Given the description of an element on the screen output the (x, y) to click on. 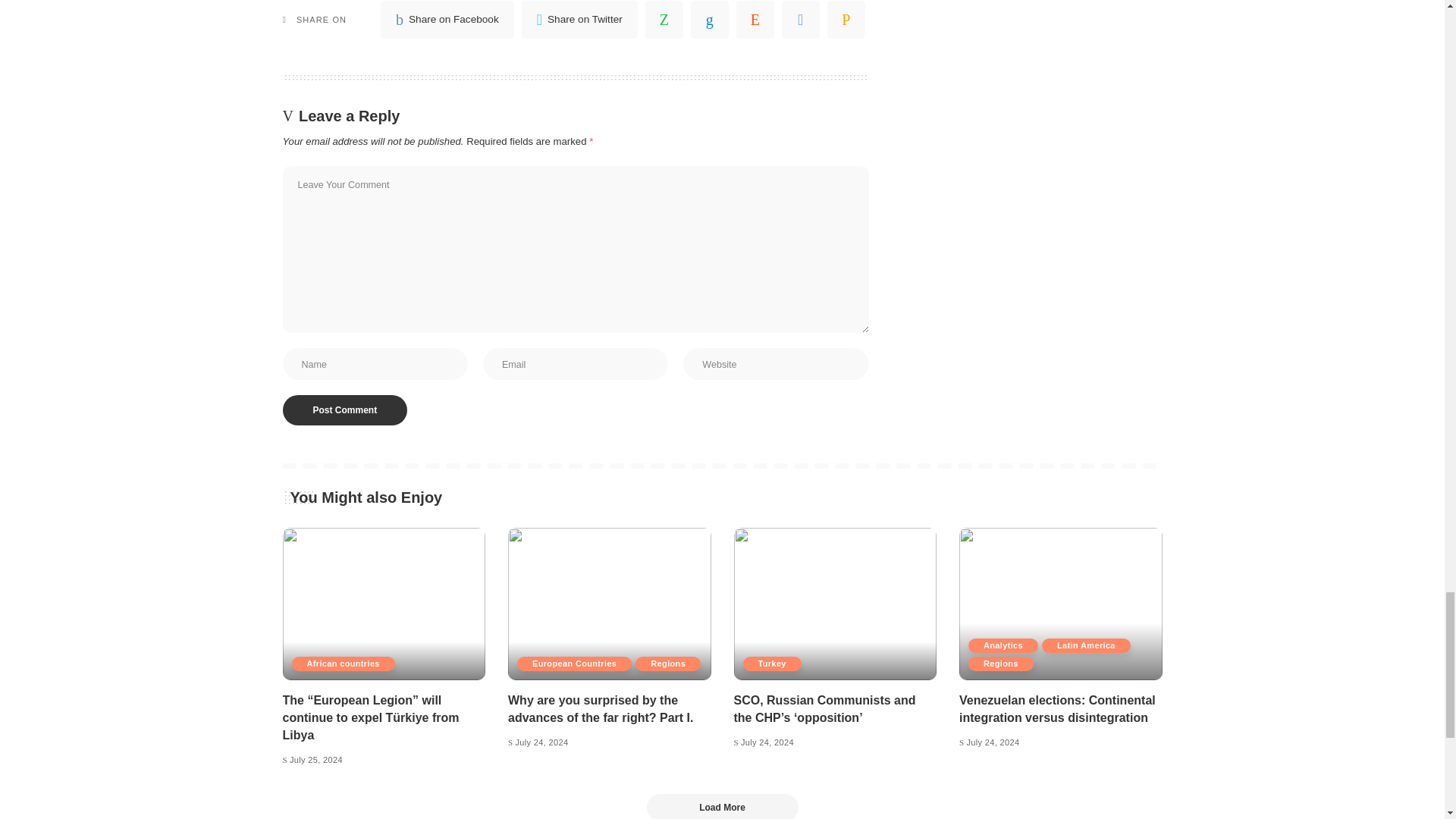
Post Comment (344, 409)
